Given the description of an element on the screen output the (x, y) to click on. 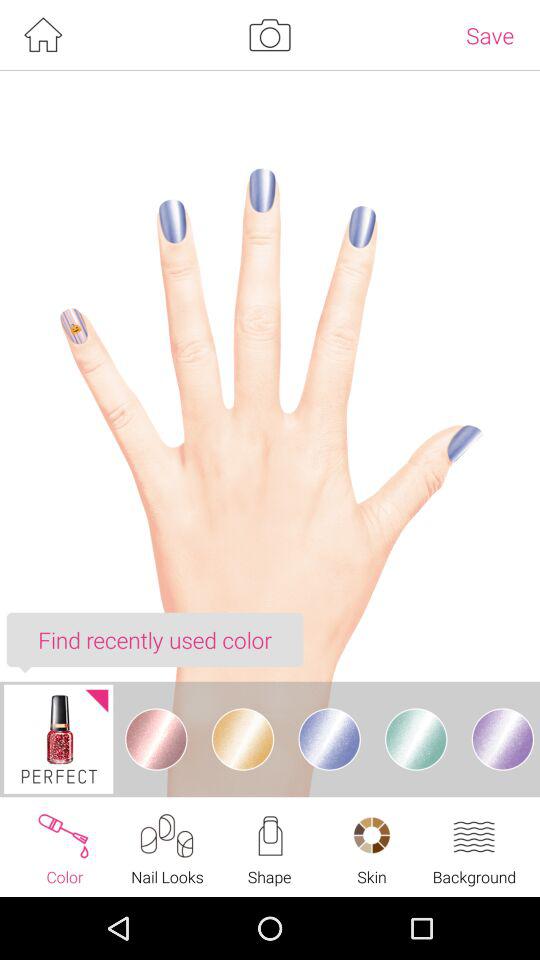
turn off the save (490, 35)
